Given the description of an element on the screen output the (x, y) to click on. 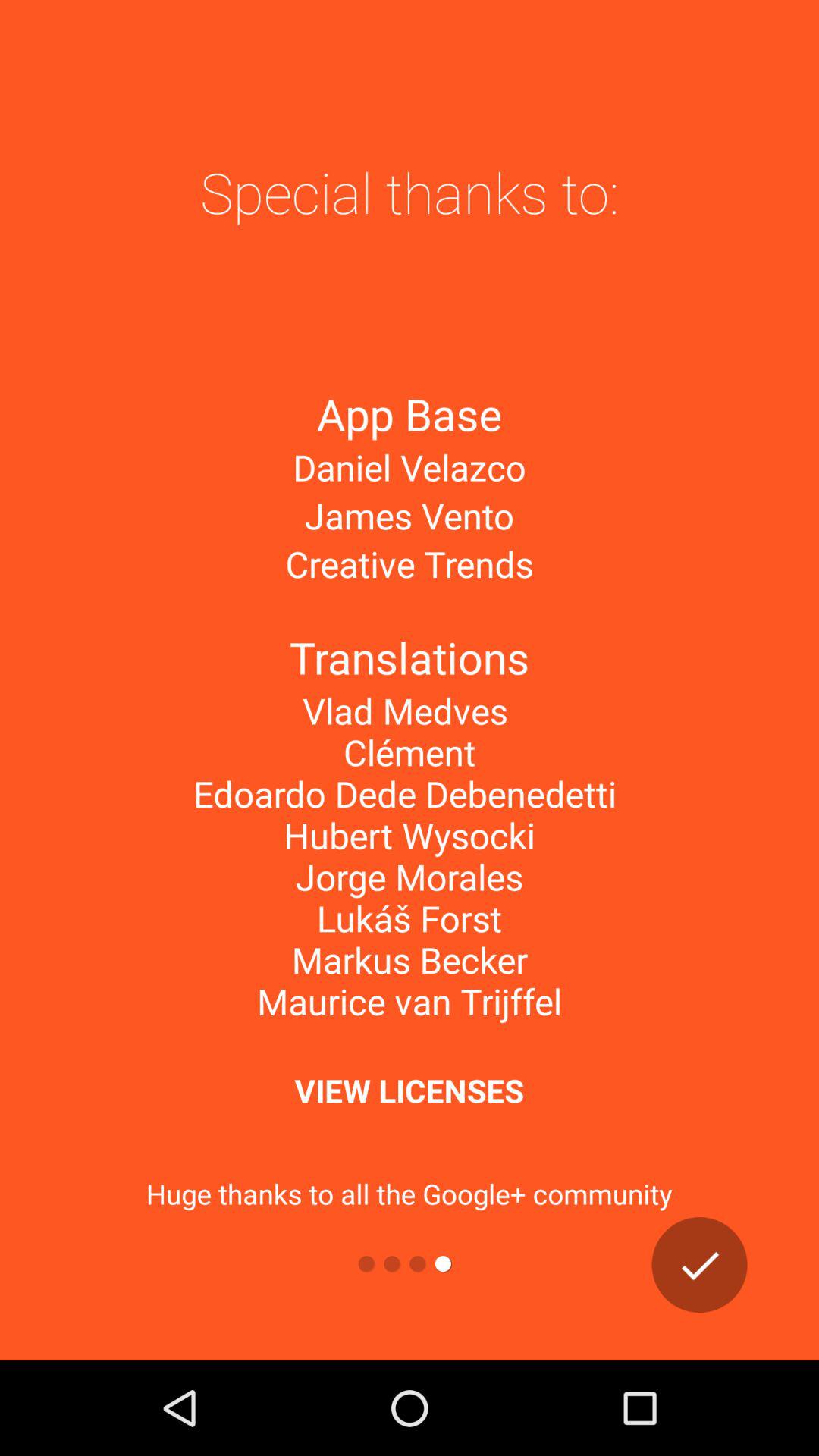
flip until the view licenses (409, 1090)
